Given the description of an element on the screen output the (x, y) to click on. 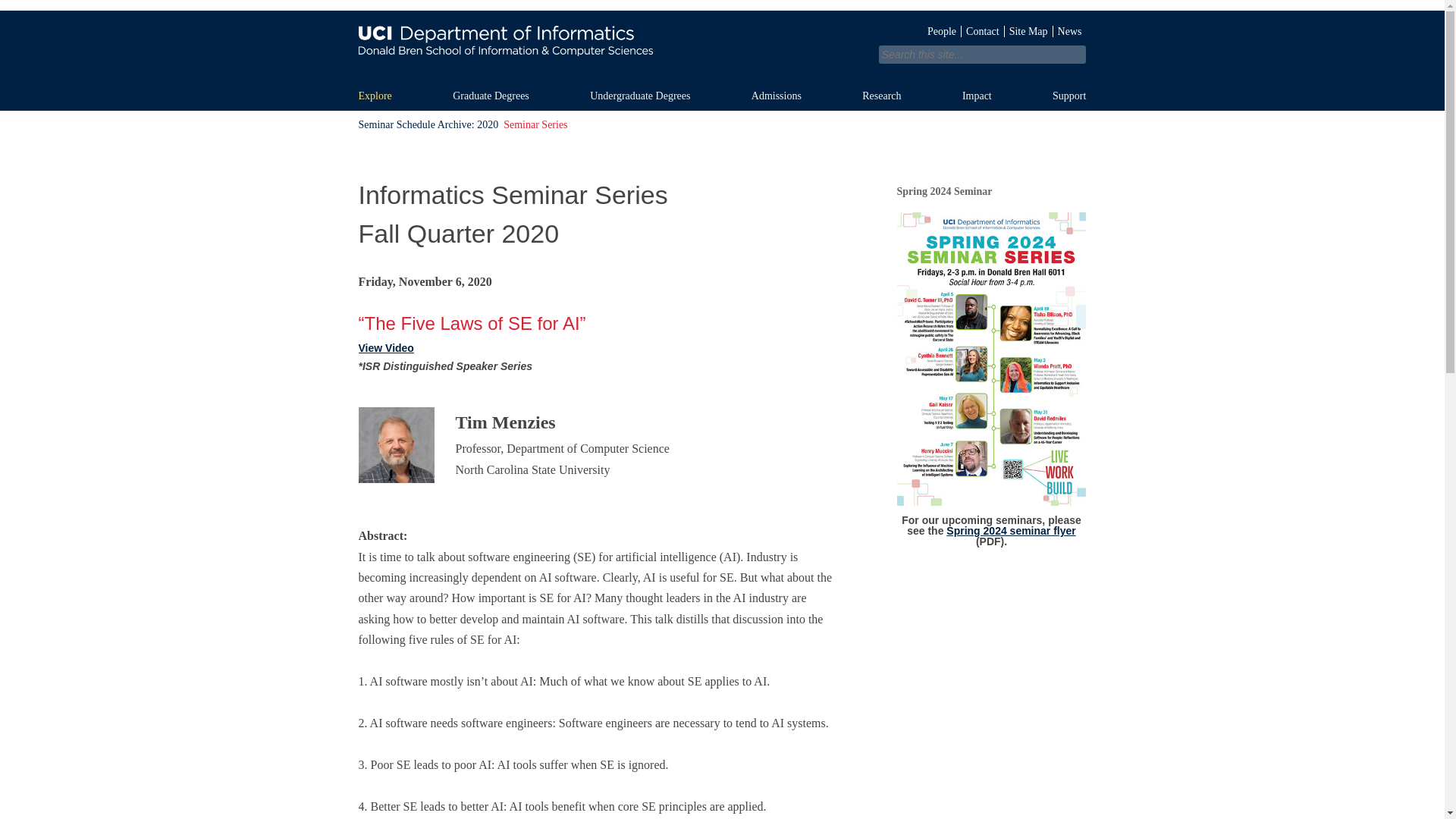
News (1069, 30)
Site Map (1028, 30)
Contact (982, 30)
Undergraduate Degrees (656, 95)
Explore (391, 95)
Skip to content (754, 86)
Graduate Degrees (507, 95)
People (941, 30)
Skip to content (754, 86)
Search (353, 10)
